Given the description of an element on the screen output the (x, y) to click on. 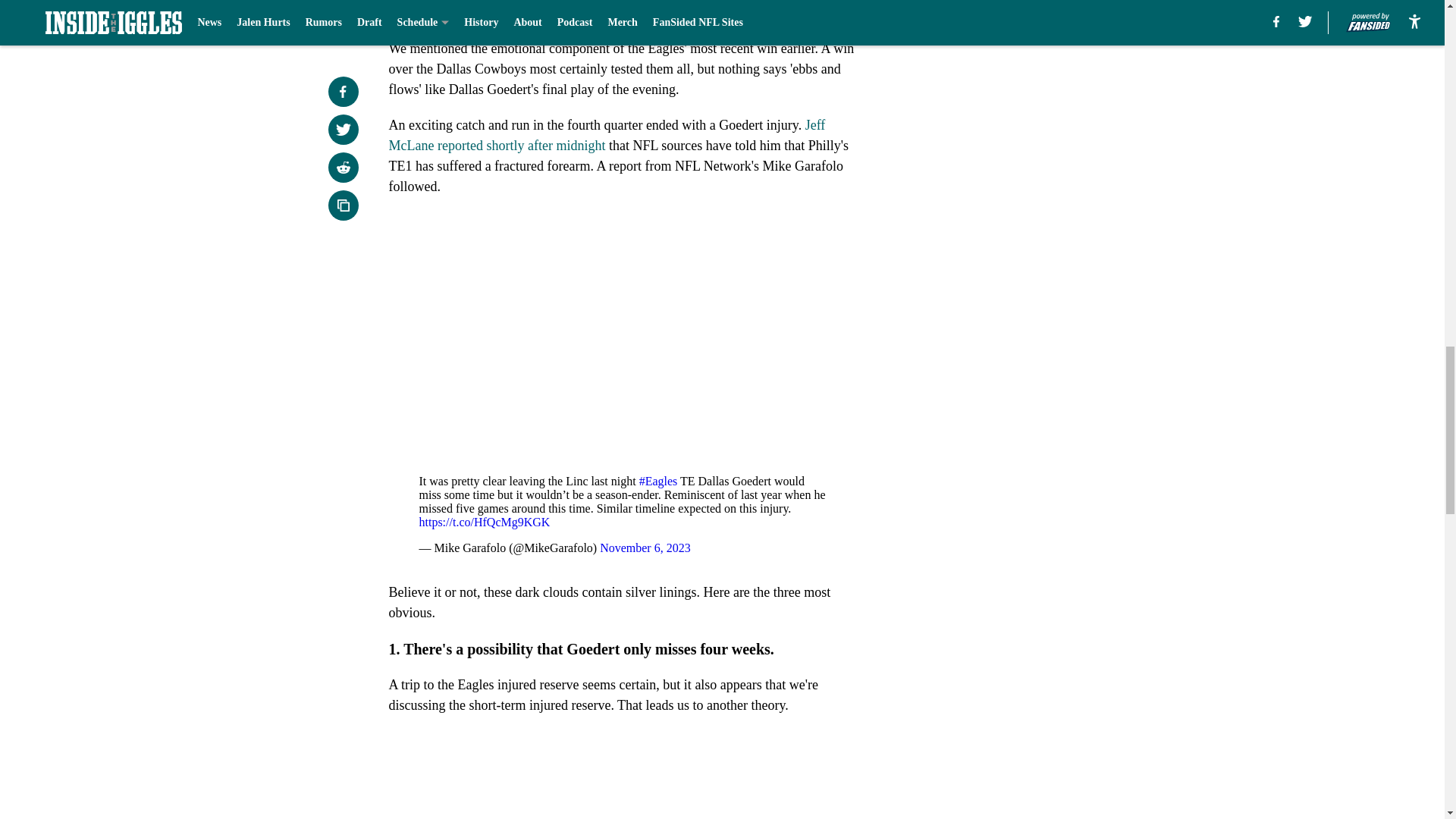
Jeff McLane reported shortly after midnight (606, 135)
November 6, 2023 (644, 547)
